Given the description of an element on the screen output the (x, y) to click on. 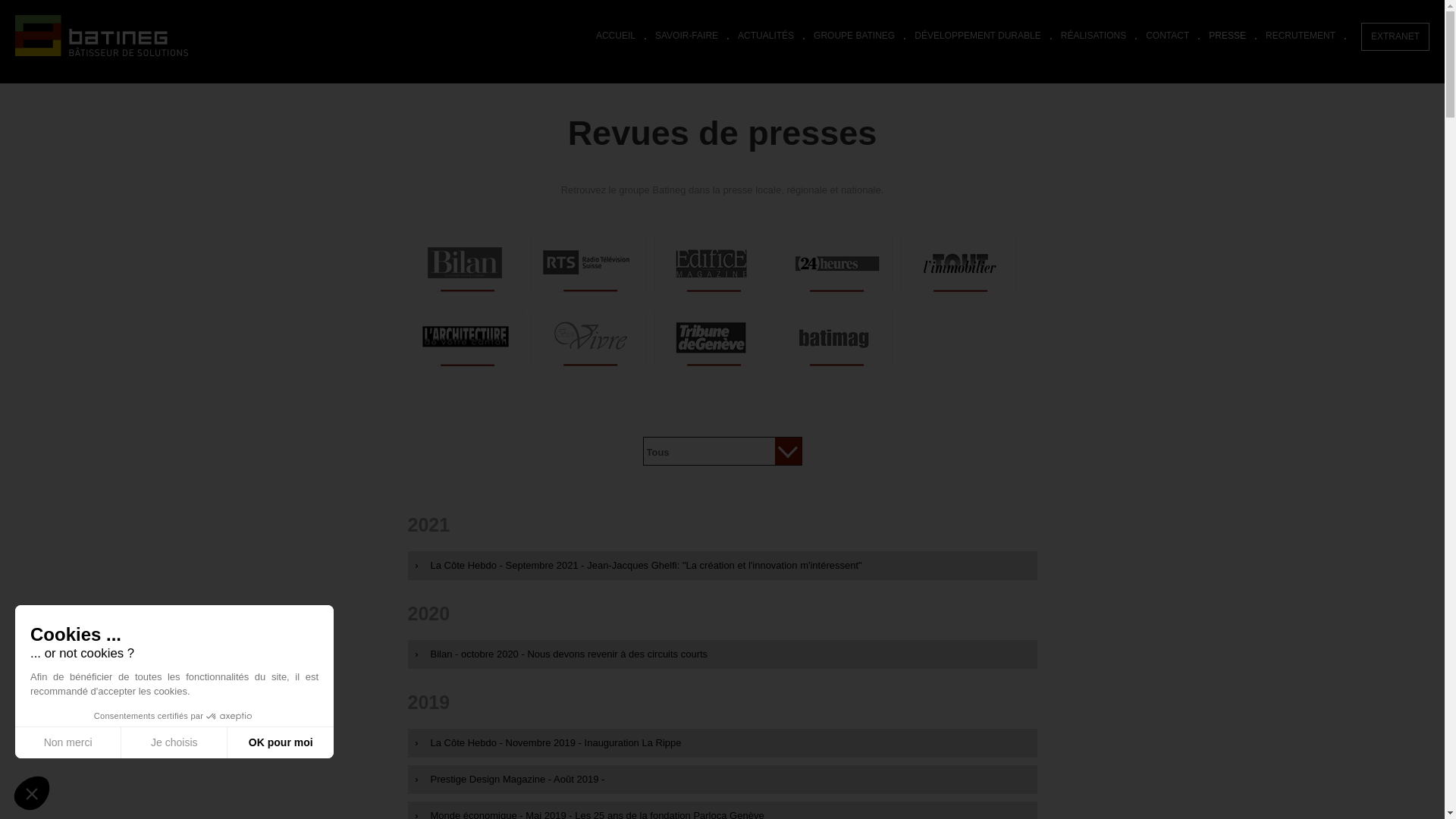
PRESSE Element type: text (1227, 35)
OK pour moi Element type: text (280, 742)
GROUPE BATINEG Element type: text (853, 35)
Fermer le widget sans consentement Element type: hover (31, 793)
SAVOIR-FAIRE Element type: text (686, 35)
Non merci Element type: text (68, 742)
RECRUTEMENT Element type: text (1300, 35)
CONTACT Element type: text (1167, 35)
ACCUEIL Element type: text (615, 35)
Je choisis Element type: text (174, 742)
EXTRANET Element type: text (1394, 36)
